Given the description of an element on the screen output the (x, y) to click on. 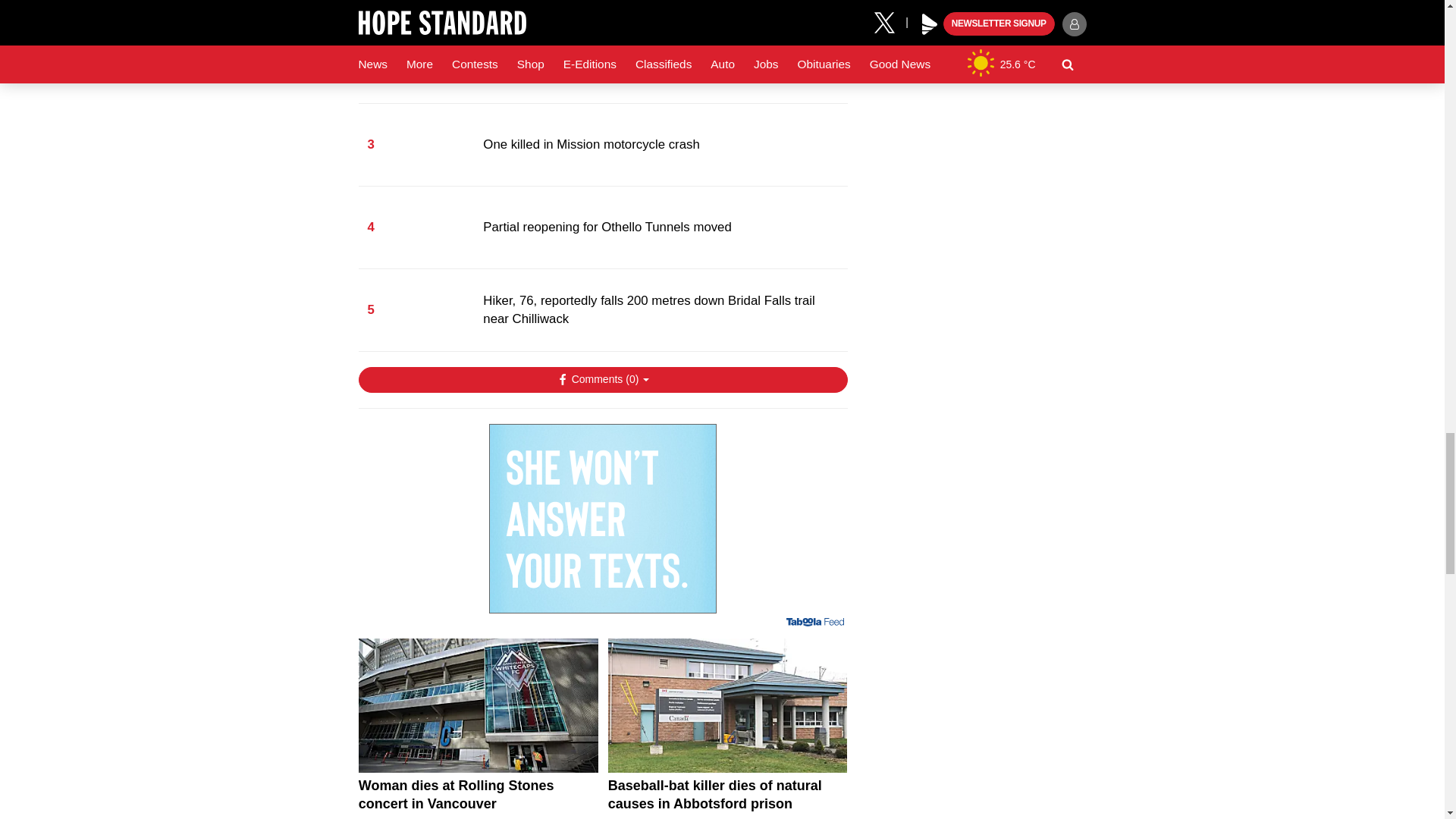
Show Comments (602, 379)
3rd party ad content (602, 518)
